Given the description of an element on the screen output the (x, y) to click on. 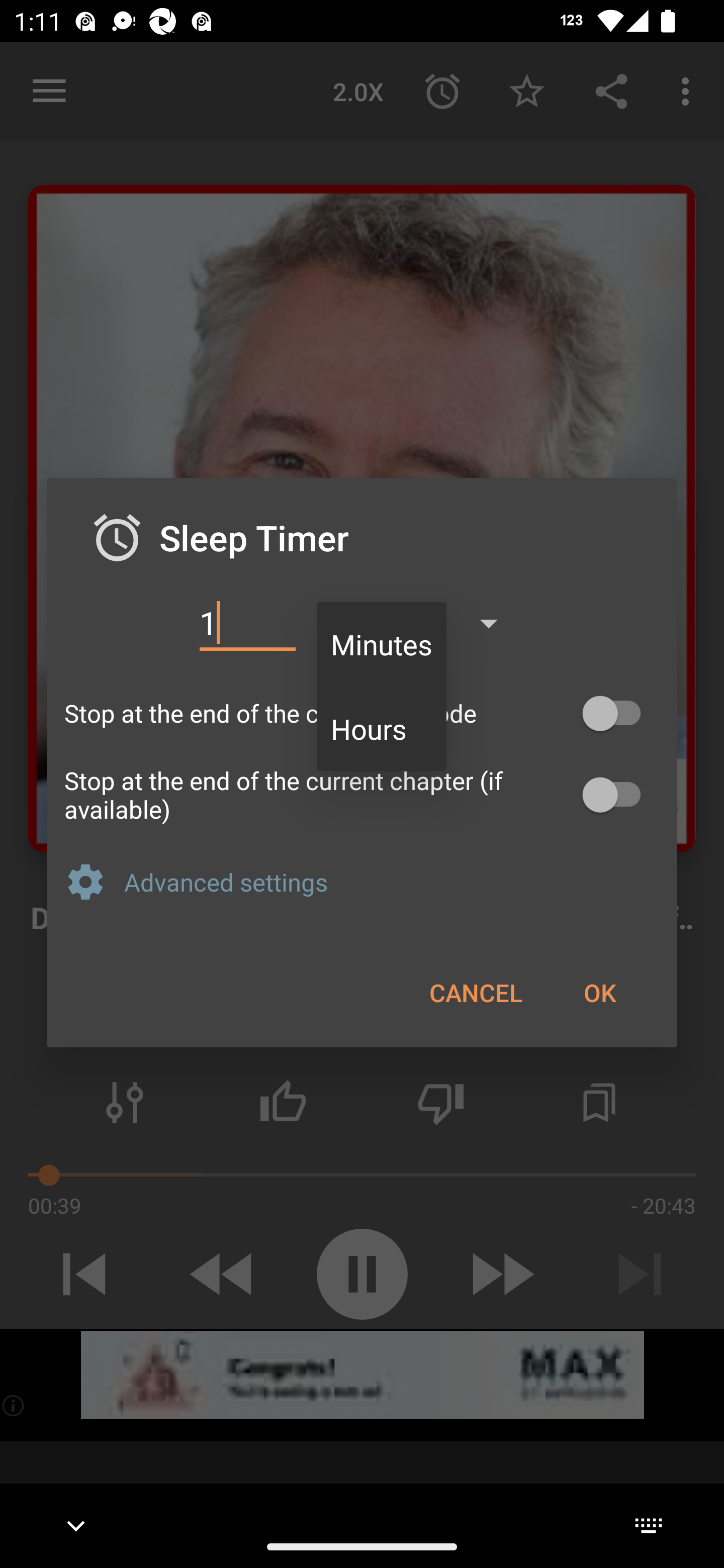
Minutes (381, 644)
Hours (381, 728)
